Given the description of an element on the screen output the (x, y) to click on. 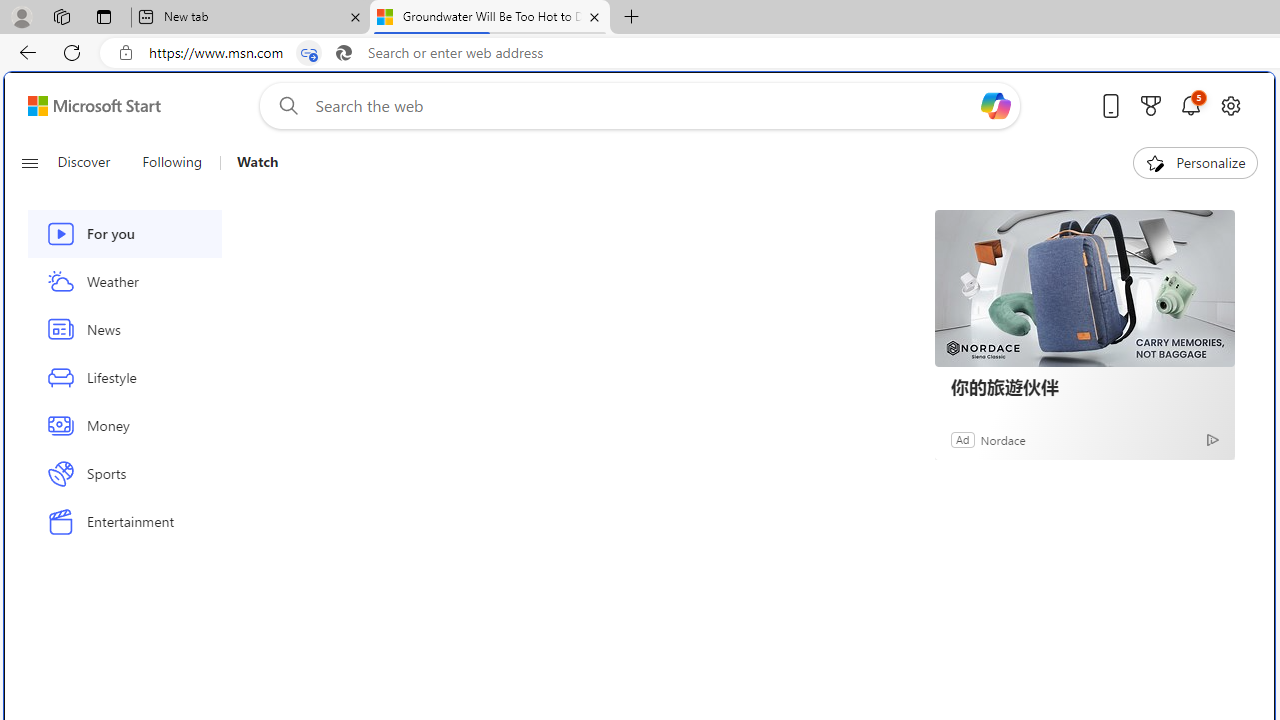
Open navigation menu (29, 162)
Skip to content (86, 105)
Search icon (343, 53)
Skip to footer (82, 105)
